Given the description of an element on the screen output the (x, y) to click on. 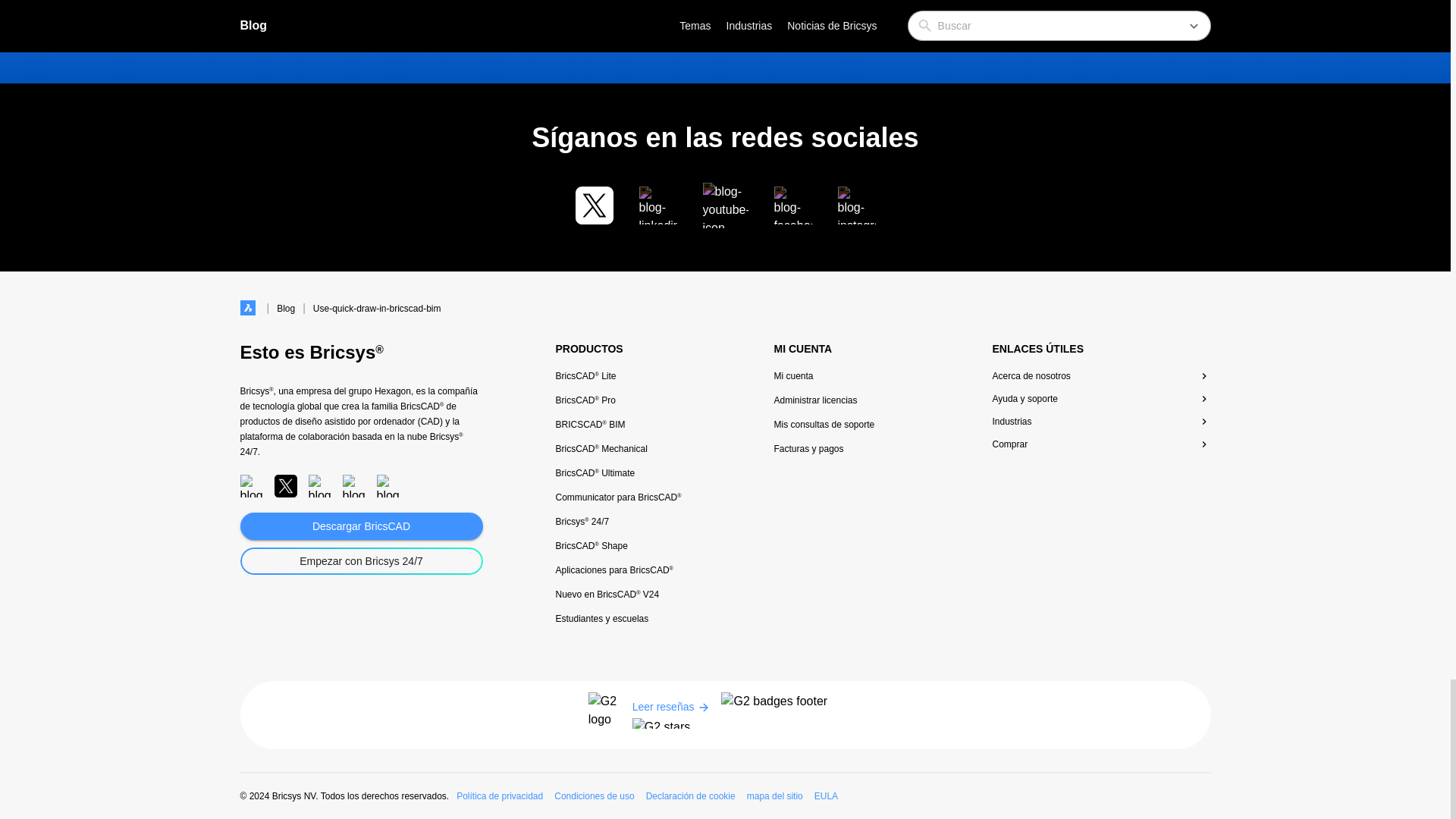
blog-facebook-icon (791, 205)
blog-instagram-icon (856, 205)
blog-X-icon (593, 205)
Sign up (1027, 26)
blog-linkedin-icon (658, 205)
blog-youtube-icon (724, 205)
